Given the description of an element on the screen output the (x, y) to click on. 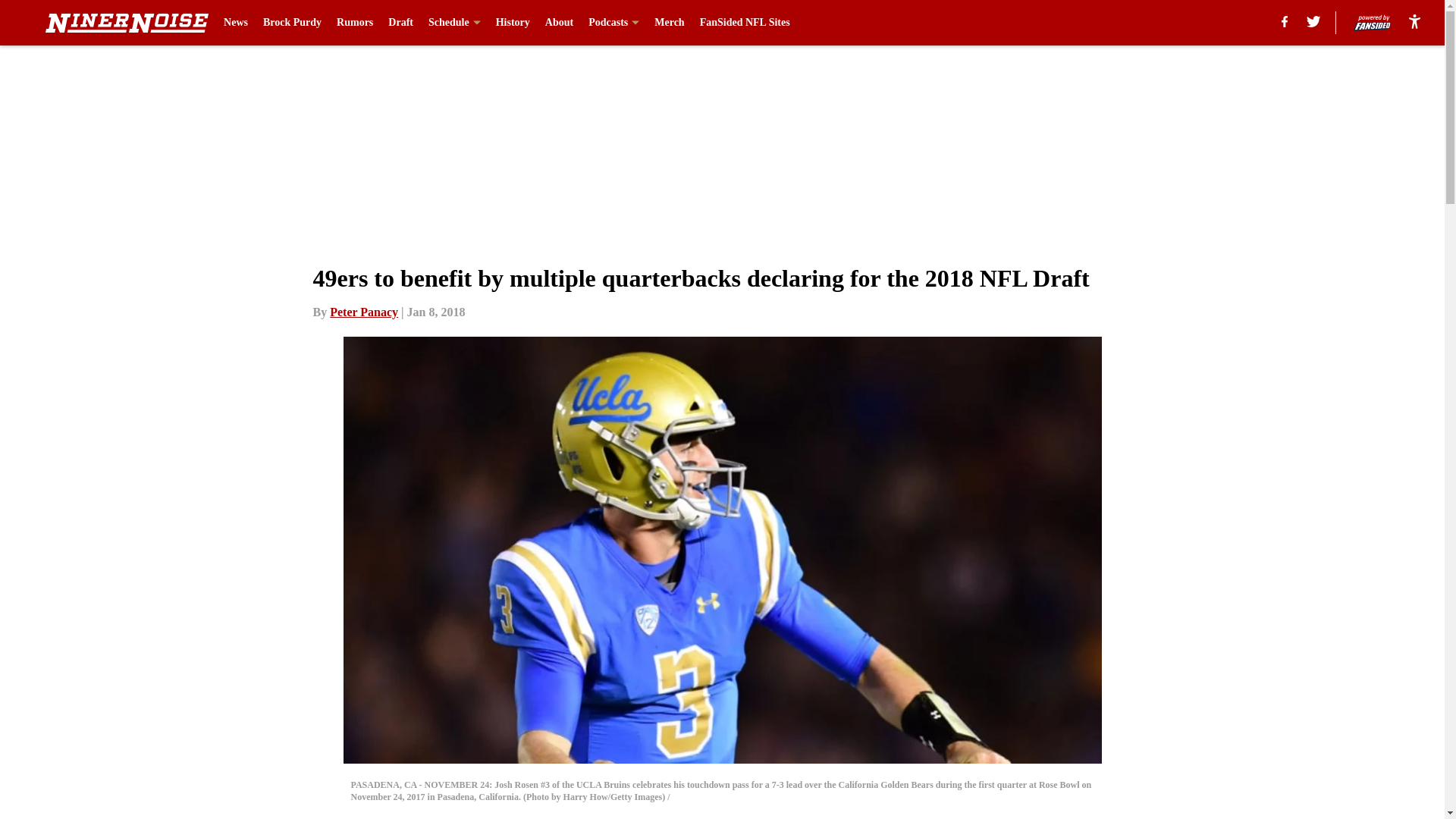
News (235, 22)
Rumors (354, 22)
FanSided NFL Sites (745, 22)
Draft (400, 22)
Merch (668, 22)
Peter Panacy (363, 311)
Brock Purdy (292, 22)
About (558, 22)
History (512, 22)
